Given the description of an element on the screen output the (x, y) to click on. 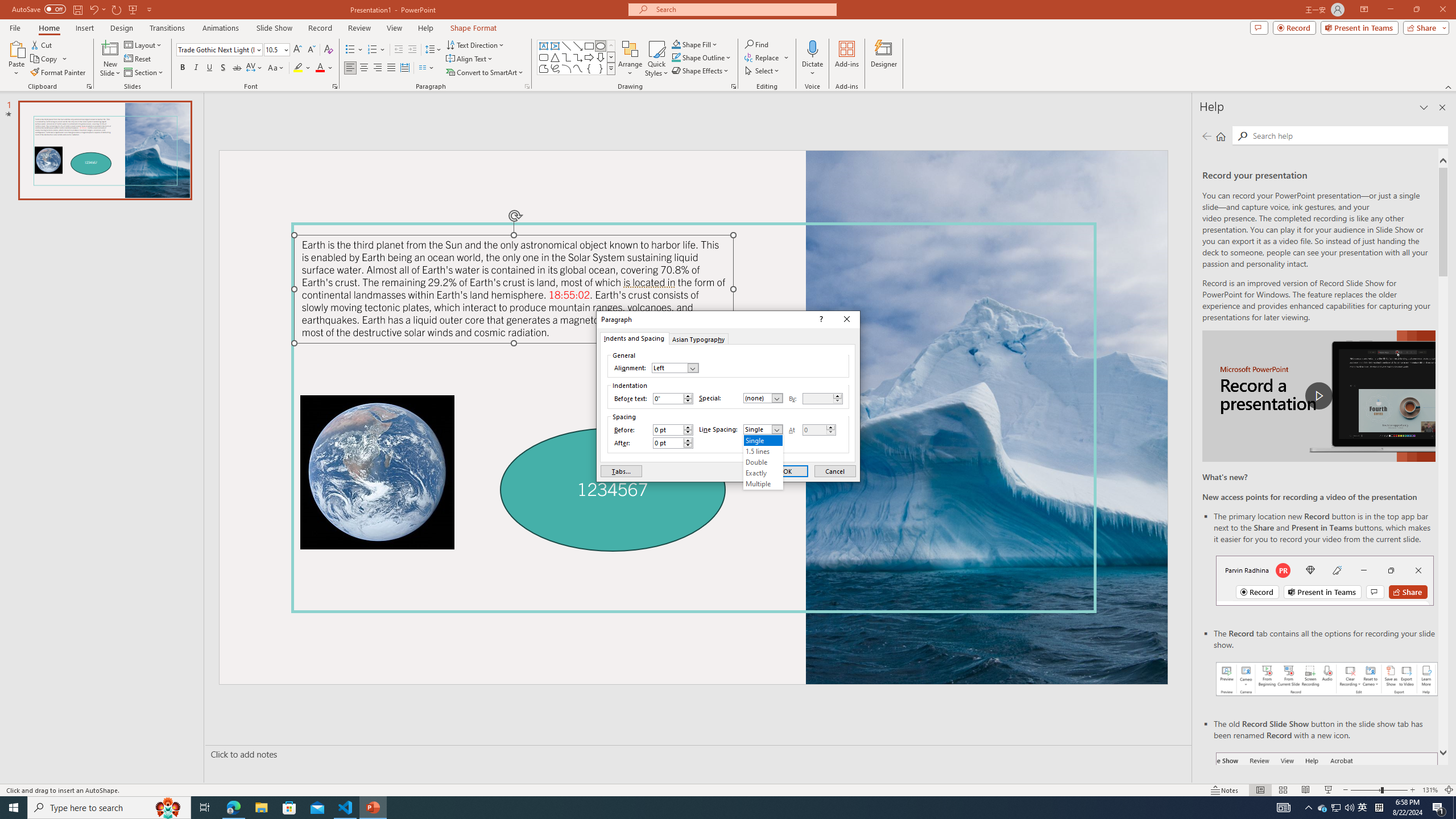
Shape Fill Aqua, Accent 2 (675, 44)
Context help (820, 319)
After (667, 442)
